Given the description of an element on the screen output the (x, y) to click on. 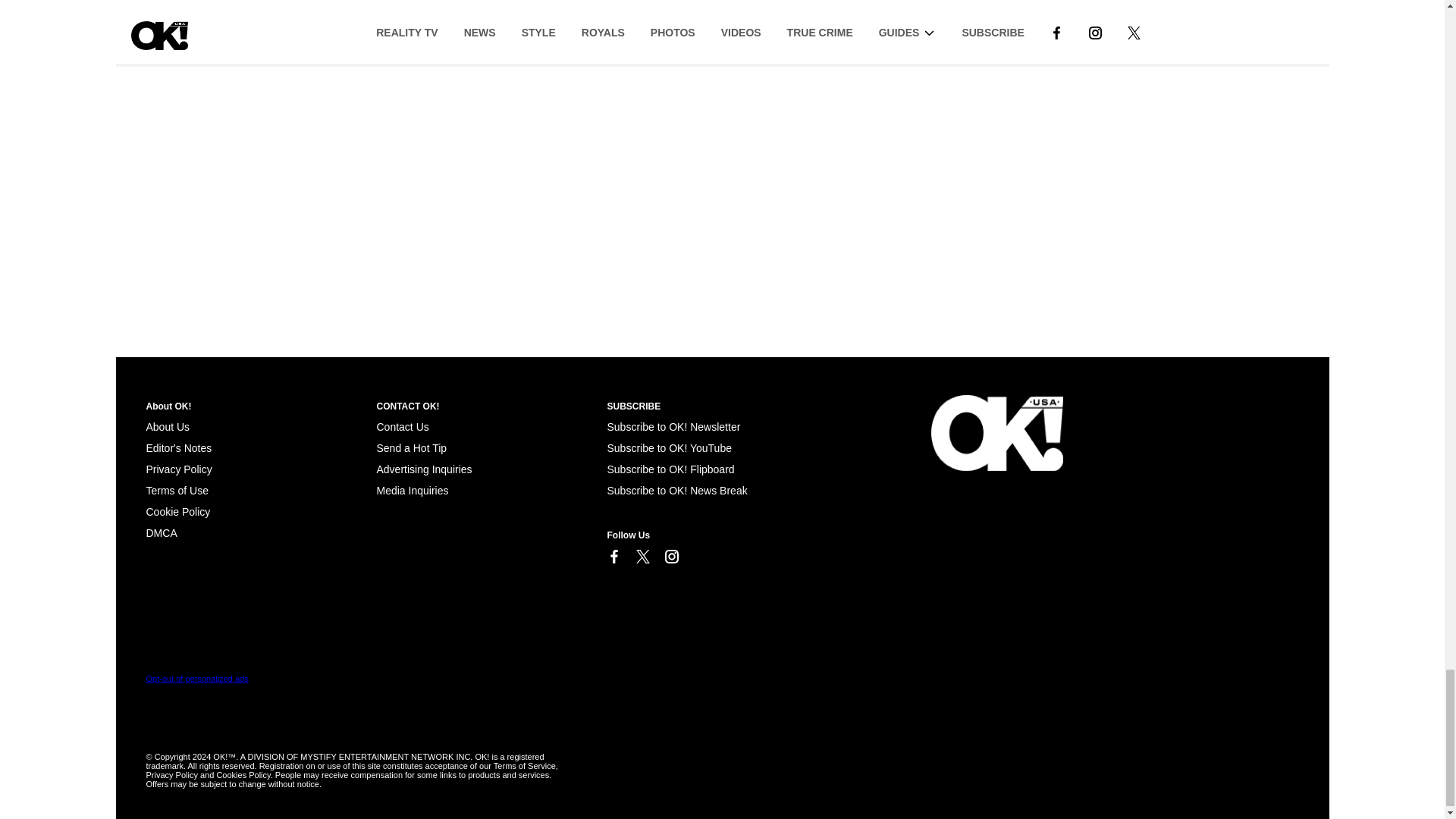
Link to X (641, 556)
Cookie Policy (177, 511)
Link to Facebook (613, 556)
Terms of Use (176, 490)
Cookie Policy (160, 532)
About Us (167, 426)
Send a Hot Tip (410, 448)
Link to Instagram (670, 556)
Privacy Policy (178, 469)
Contact Us (401, 426)
Editor's Notes (178, 448)
